Given the description of an element on the screen output the (x, y) to click on. 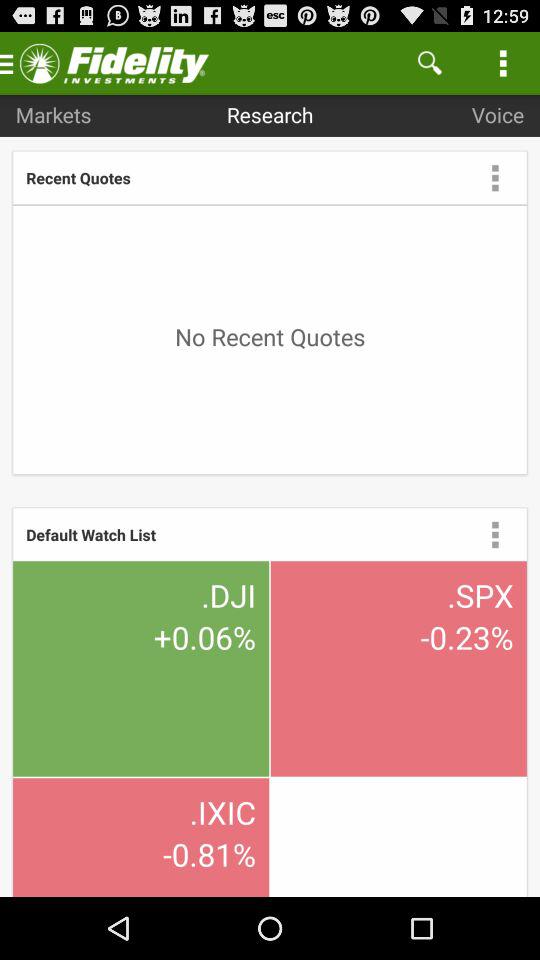
press app to the right of the research icon (429, 62)
